Given the description of an element on the screen output the (x, y) to click on. 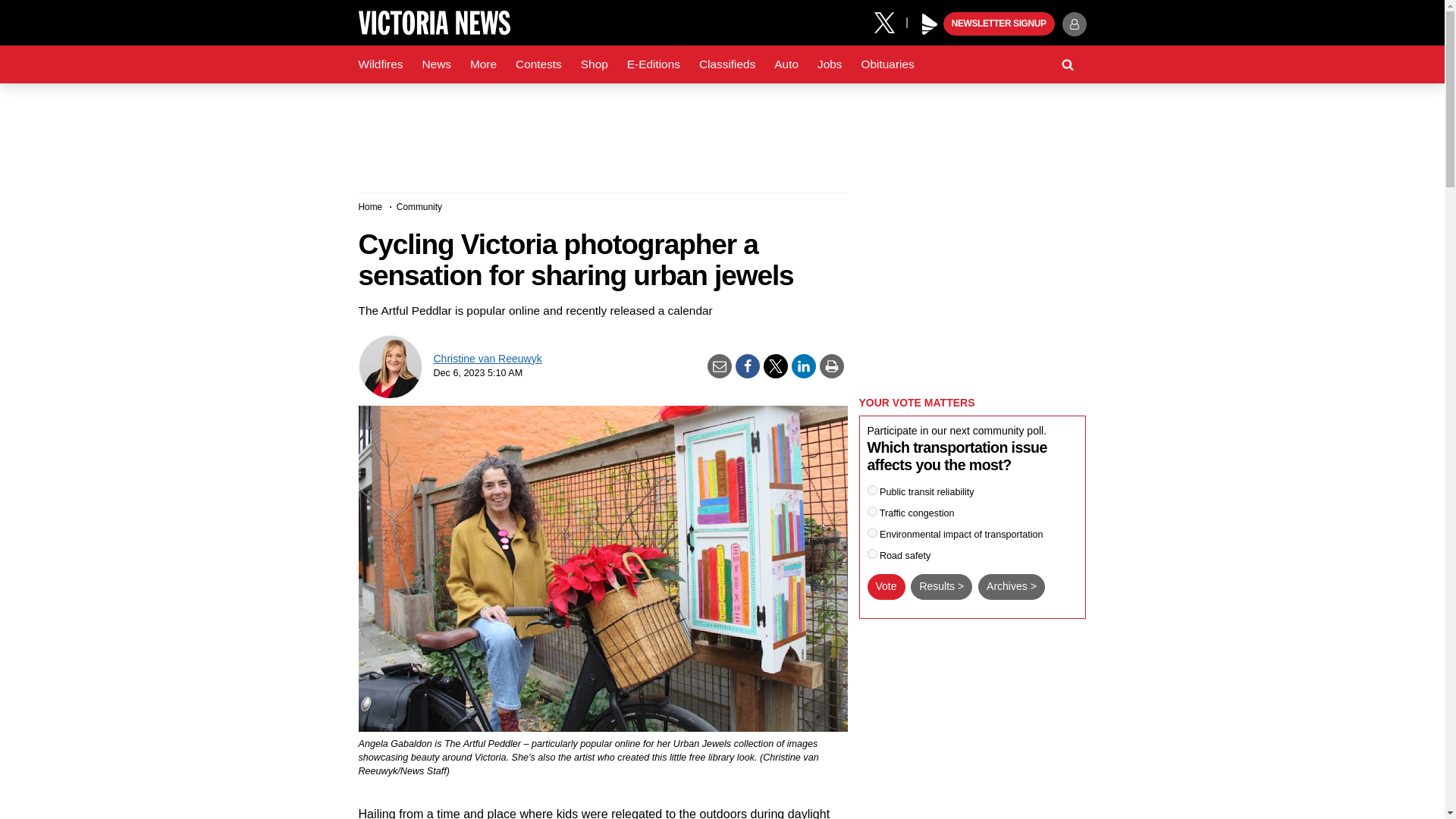
265 (872, 490)
266 (872, 511)
X (889, 21)
News (435, 64)
268 (872, 532)
NEWSLETTER SIGNUP (998, 24)
267 (872, 553)
Wildfires (380, 64)
Black Press Media (929, 24)
Play (929, 24)
